Given the description of an element on the screen output the (x, y) to click on. 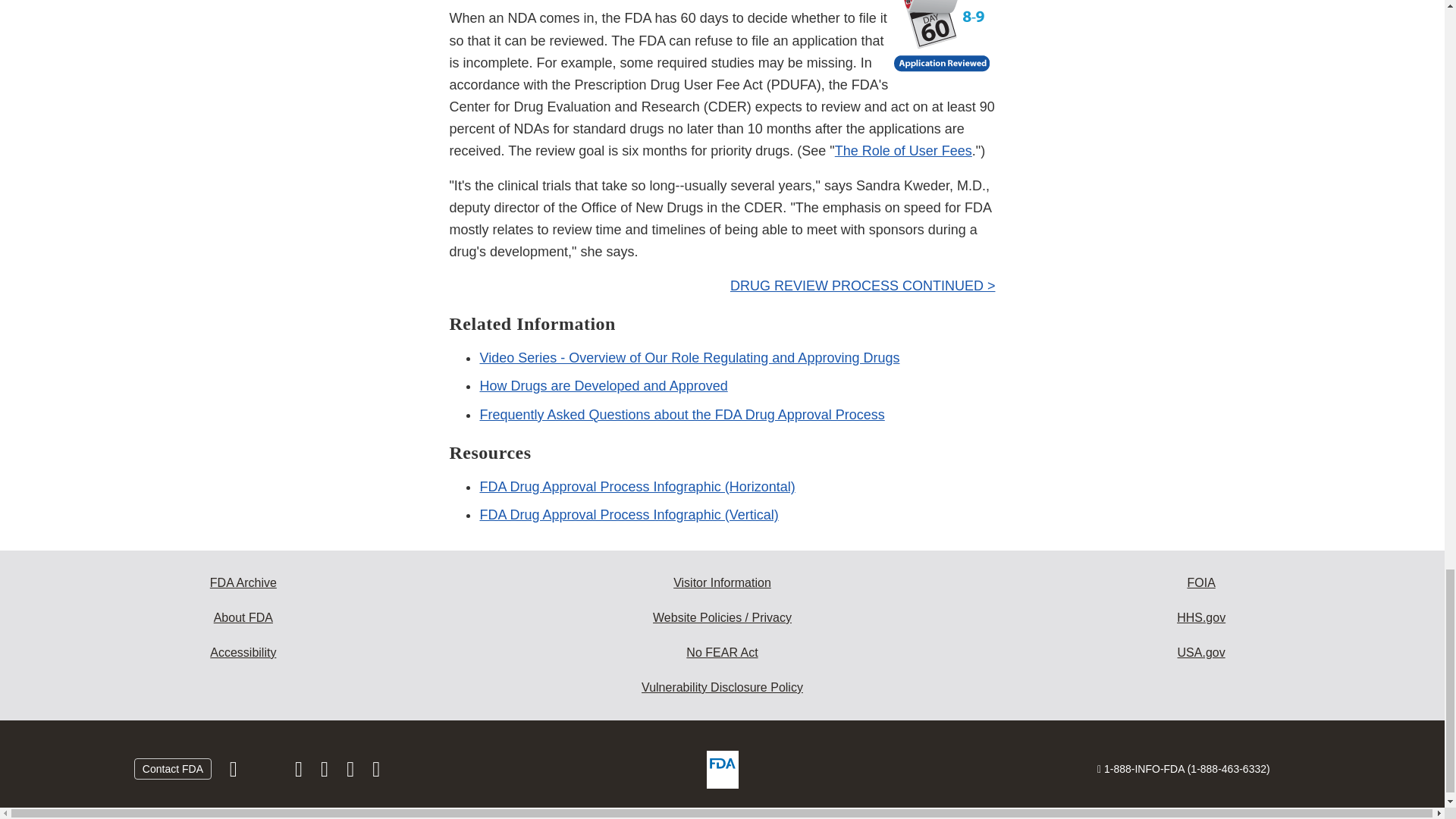
Application Reviewed Icon (942, 42)
Freedom of Information Act (1200, 582)
How Drugs are Developed and Approved (602, 385)
